Given the description of an element on the screen output the (x, y) to click on. 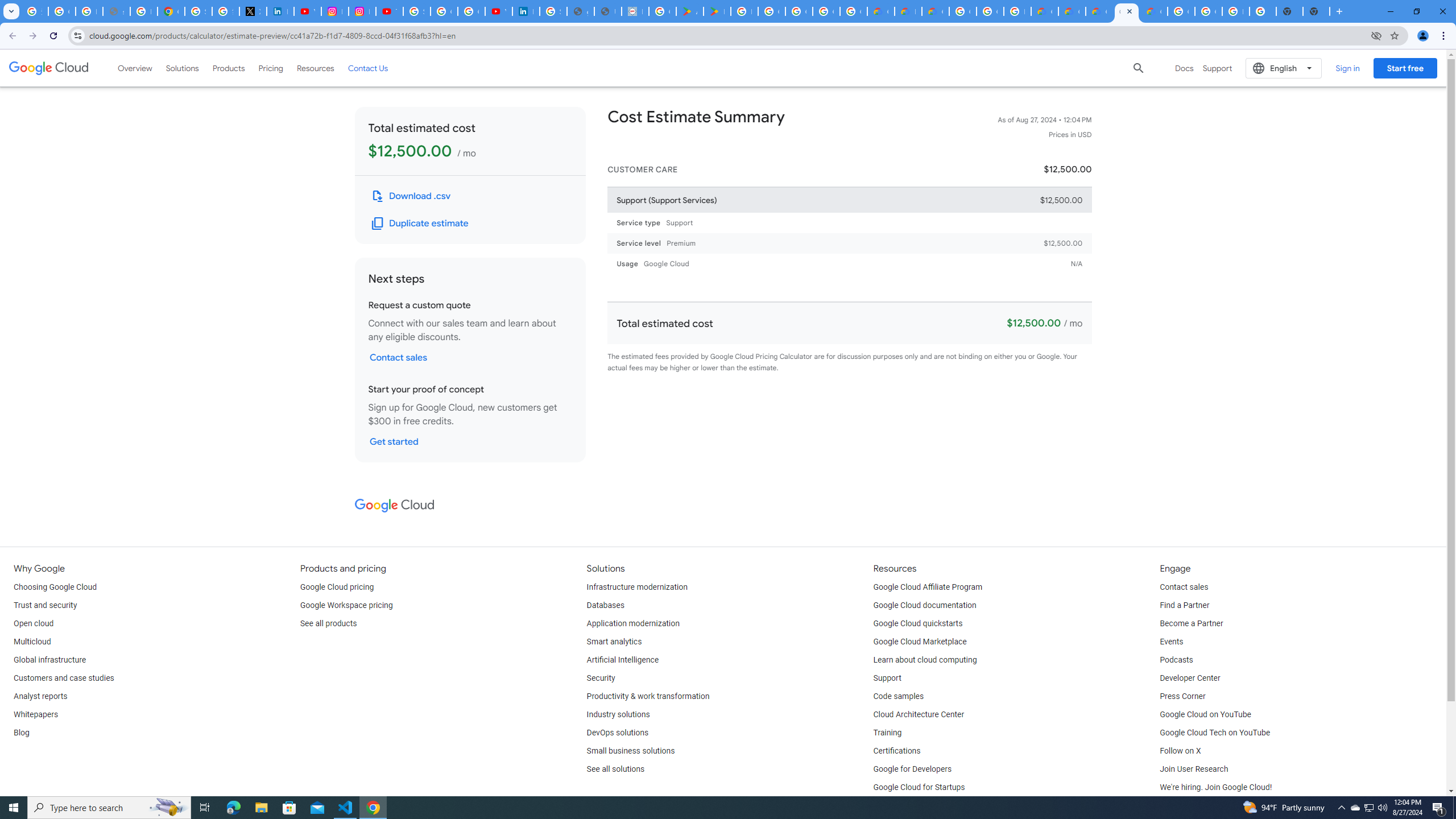
Sign in - Google Accounts (197, 11)
Become a Partner (1190, 624)
Google Cloud Platform (962, 11)
Privacy Help Center - Policies Help (144, 11)
Open cloud (33, 624)
Developer Center (1189, 678)
Artificial Intelligence (622, 660)
support.google.com - Network error (116, 11)
Google Cloud quickstarts (917, 624)
Trust and security (45, 605)
